Given the description of an element on the screen output the (x, y) to click on. 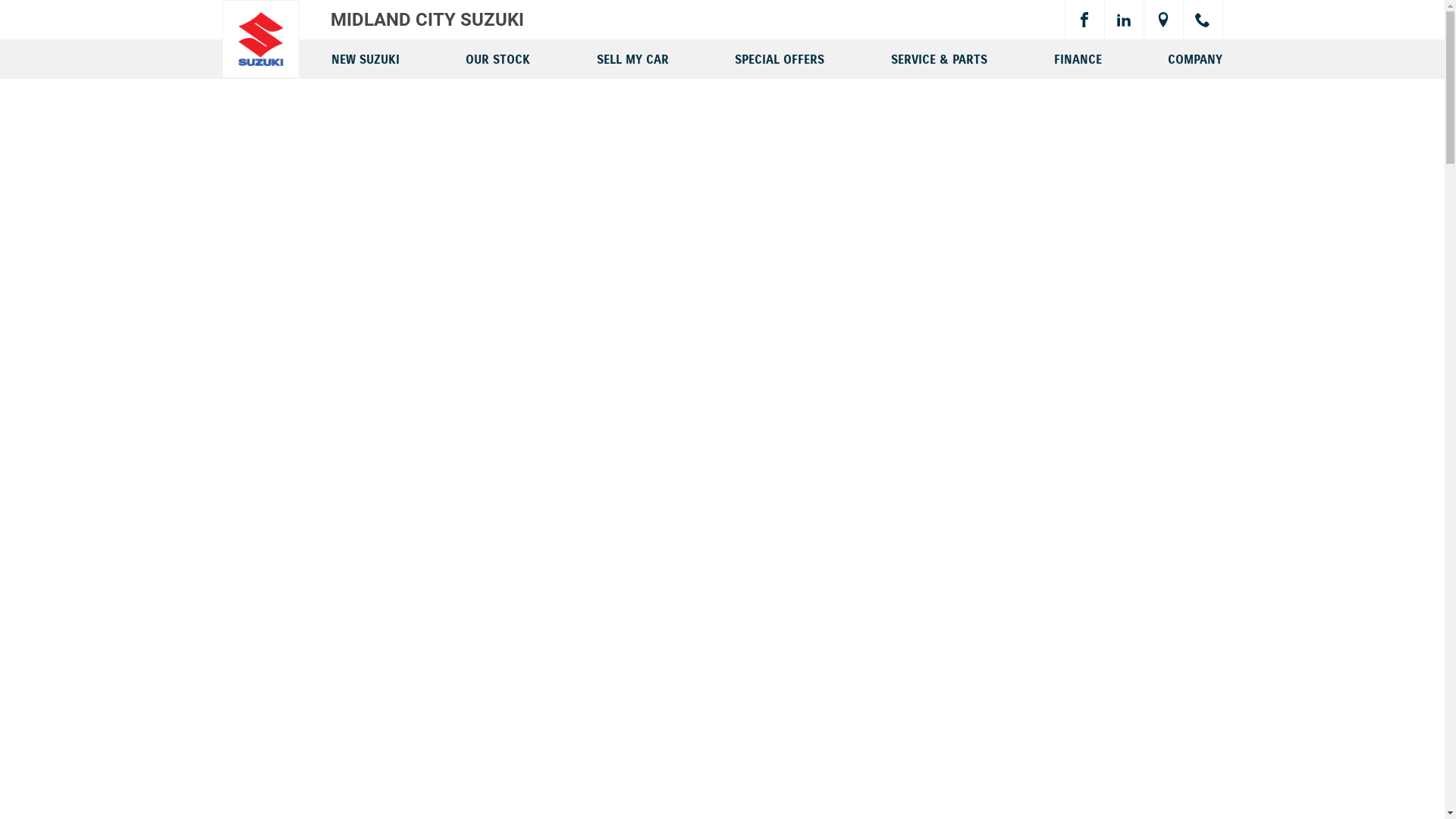
NEW SUZUKI Element type: text (364, 57)
SELL MY CAR Element type: text (632, 57)
COMPANY Element type: text (1194, 57)
FINANCE Element type: text (1077, 57)
SPECIAL OFFERS Element type: text (779, 57)
OUR STOCK Element type: text (497, 57)
SERVICE & PARTS Element type: text (938, 57)
